Given the description of an element on the screen output the (x, y) to click on. 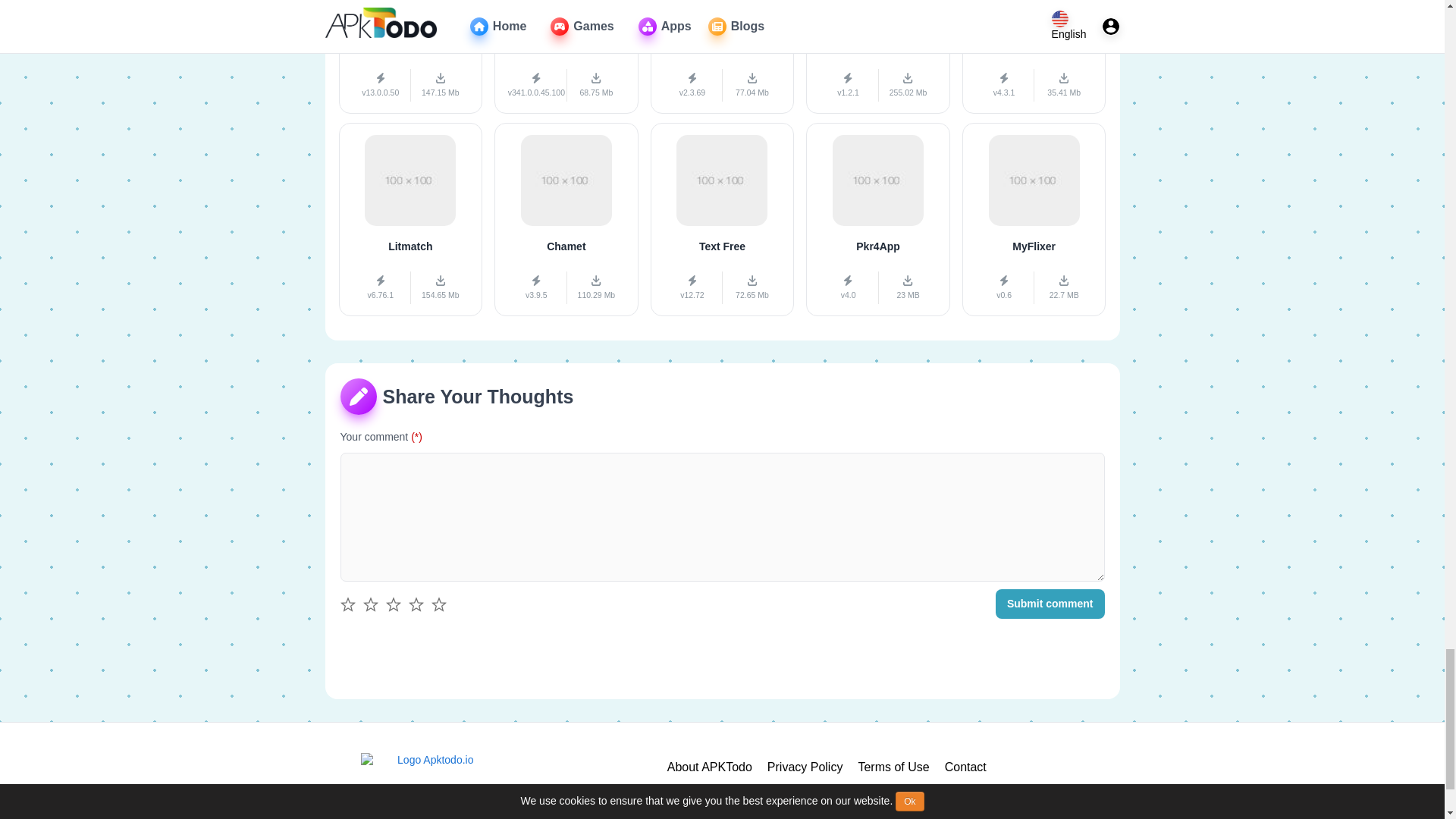
Privacy Policy (805, 767)
Text Free (722, 219)
Waho (878, 57)
NGL (722, 57)
Pkr4App (878, 219)
Snapchat (409, 57)
Contact (965, 767)
Chamet (567, 219)
About APKTodo (709, 767)
MyFlixer (1034, 219)
Litmatch (409, 219)
Chatrandom (1034, 57)
Instagram (567, 57)
Terms of Use (892, 767)
